Given the description of an element on the screen output the (x, y) to click on. 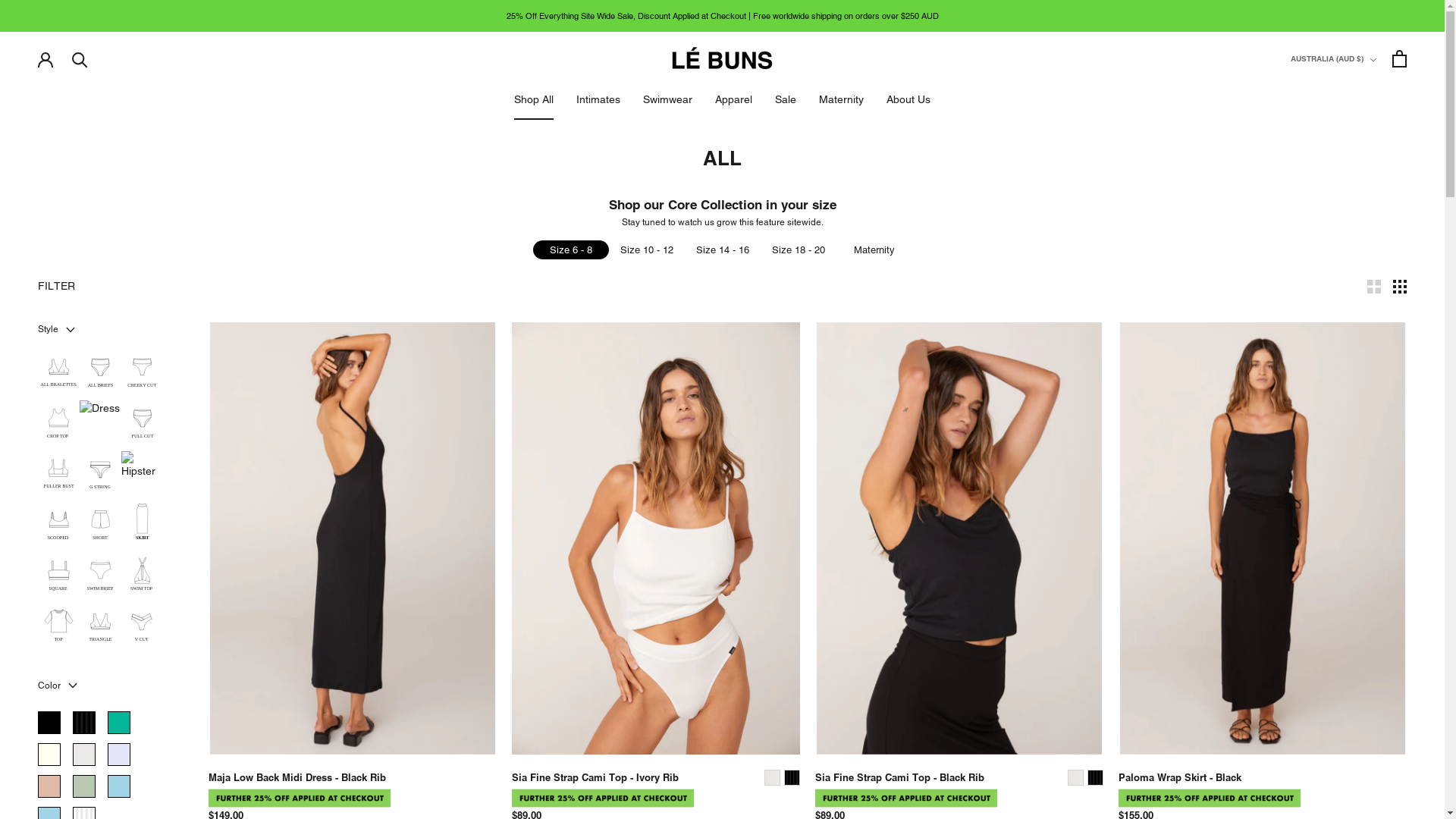
Maternity
Maternity Element type: text (841, 99)
AUSTRALIA (AUD $) Element type: text (1333, 59)
Style Element type: text (100, 329)
Paloma Wrap Skirt - Black Element type: text (1179, 777)
Swimwear
Swimwear Element type: text (667, 99)
About Us
About Us Element type: text (908, 99)
Sia Fine Strap Cami Top - Ivory Rib Element type: text (594, 777)
Maja Low Back Midi Dress - Black Rib Element type: text (296, 777)
Apparel
Apparel Element type: text (733, 99)
Sia Fine Strap Cami Top - Black Rib Element type: text (899, 777)
Color Element type: text (100, 685)
Sale
Sale Element type: text (785, 99)
Intimates
Intimates Element type: text (598, 99)
Shop All
Shop All Element type: text (533, 99)
